Given the description of an element on the screen output the (x, y) to click on. 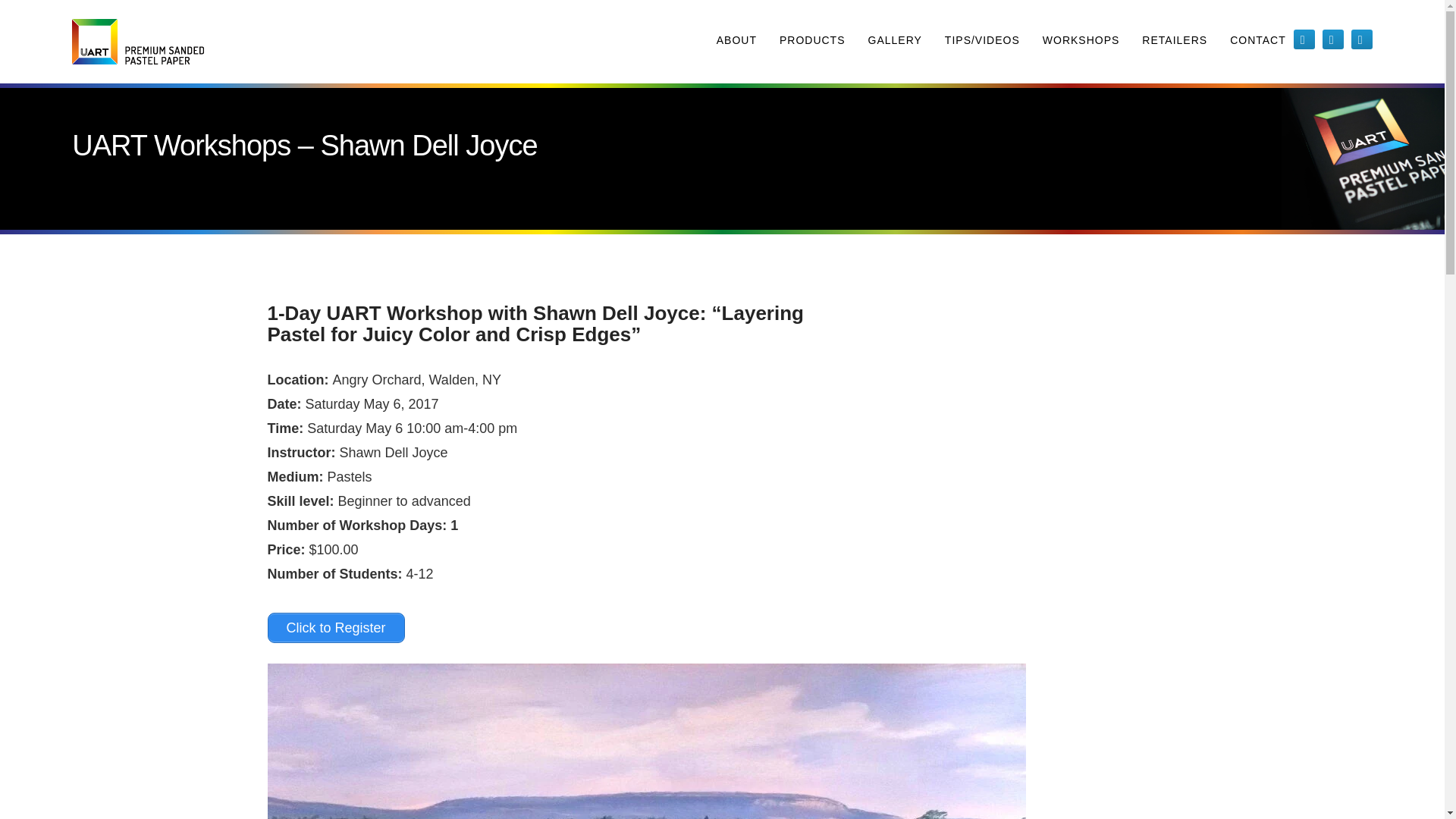
CONTACT (1257, 41)
WORKSHOPS (1080, 41)
RETAILERS (1174, 41)
Click to Register (335, 627)
PRODUCTS (811, 41)
UART Premium Sanded Pastel Paper (137, 41)
GALLERY (894, 41)
ABOUT (736, 41)
